Given the description of an element on the screen output the (x, y) to click on. 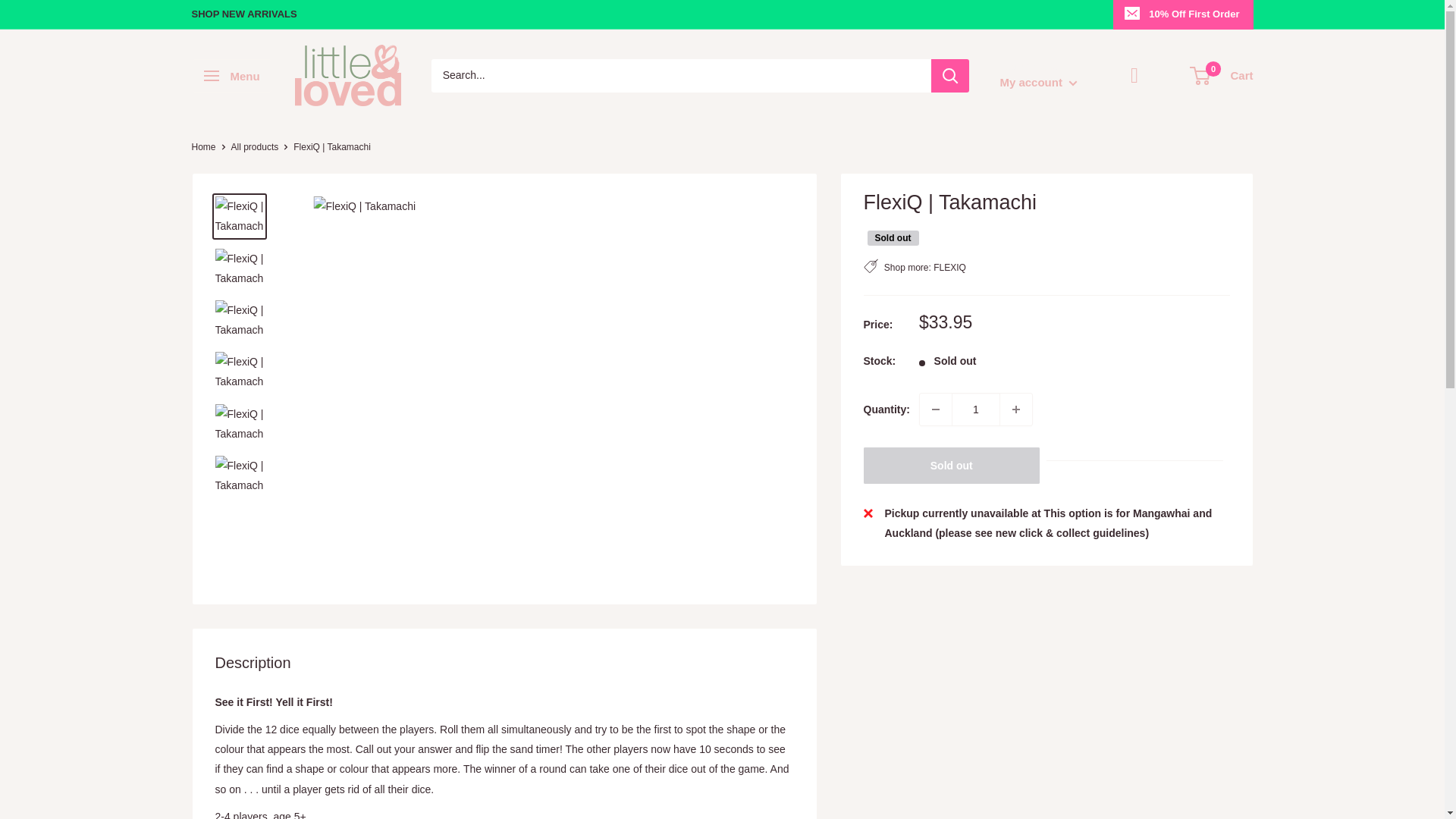
Increase quantity by 1 (1016, 409)
SHOP NEW ARRIVALS (243, 14)
Decrease quantity by 1 (936, 409)
1 (976, 409)
